Given the description of an element on the screen output the (x, y) to click on. 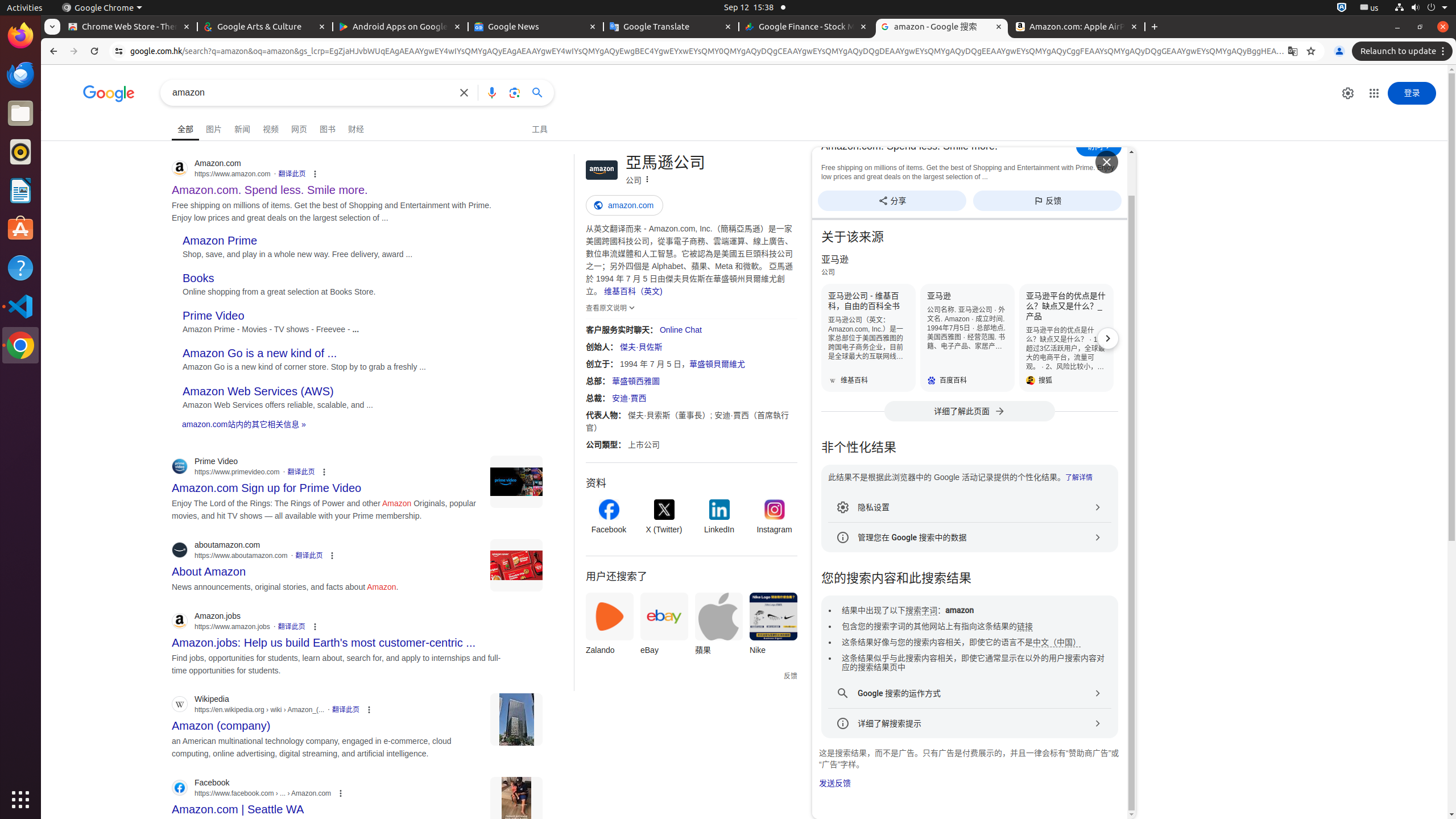
详细了解搜索提示 Element type: link (969, 723)
分享 Element type: push-button (891, 200)
LinkedIn Element type: link (719, 517)
反馈 Element type: push-button (1047, 200)
Google News - Memory usage - 49.3 MB Element type: page-tab (535, 26)
